Given the description of an element on the screen output the (x, y) to click on. 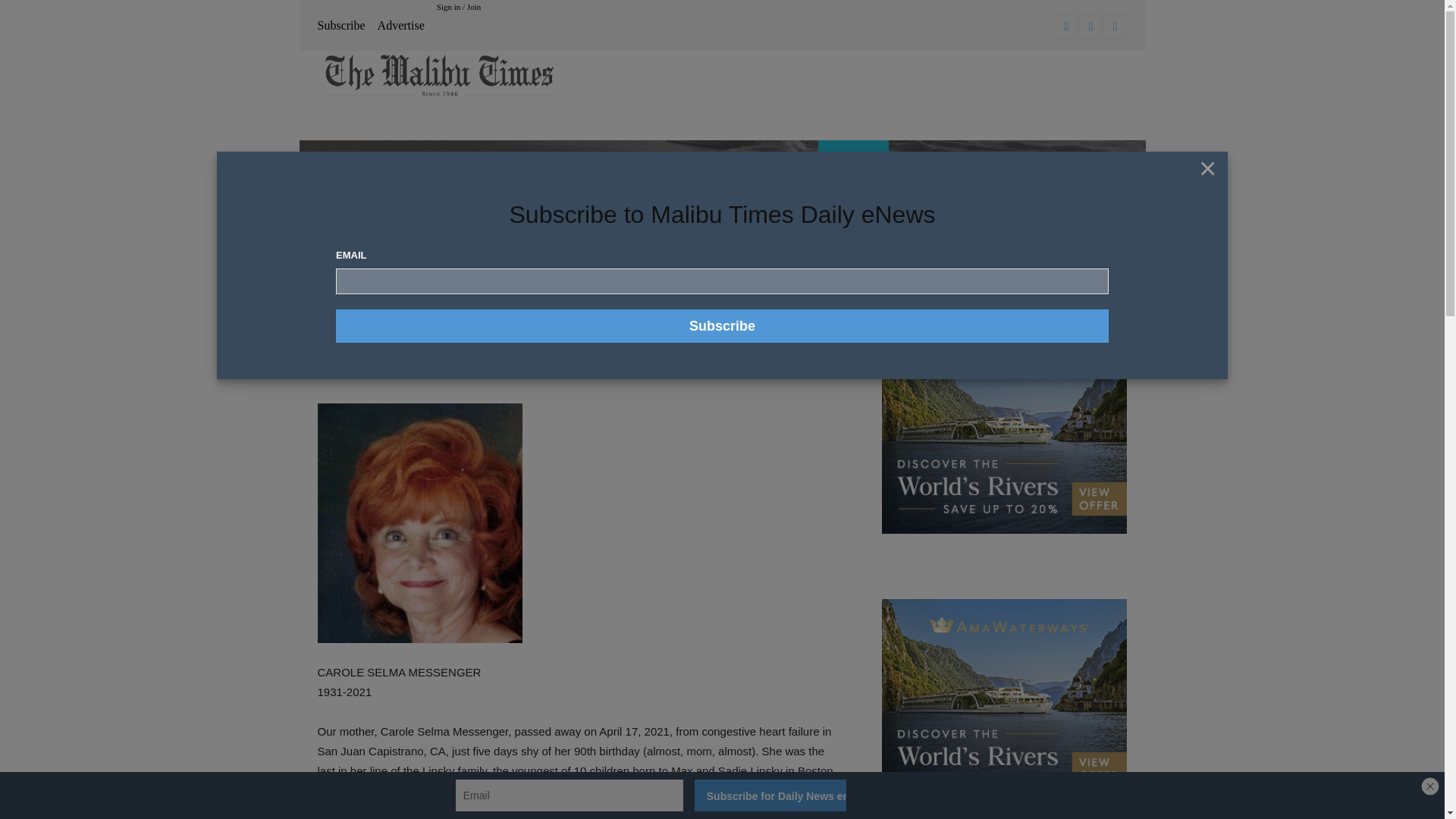
Subscribe for Daily News email (769, 795)
Instagram (1090, 25)
Facebook (1066, 25)
Subscribe (722, 326)
View all posts in Obituaries (376, 236)
Search (1099, 264)
Twitter (1114, 25)
